Given the description of an element on the screen output the (x, y) to click on. 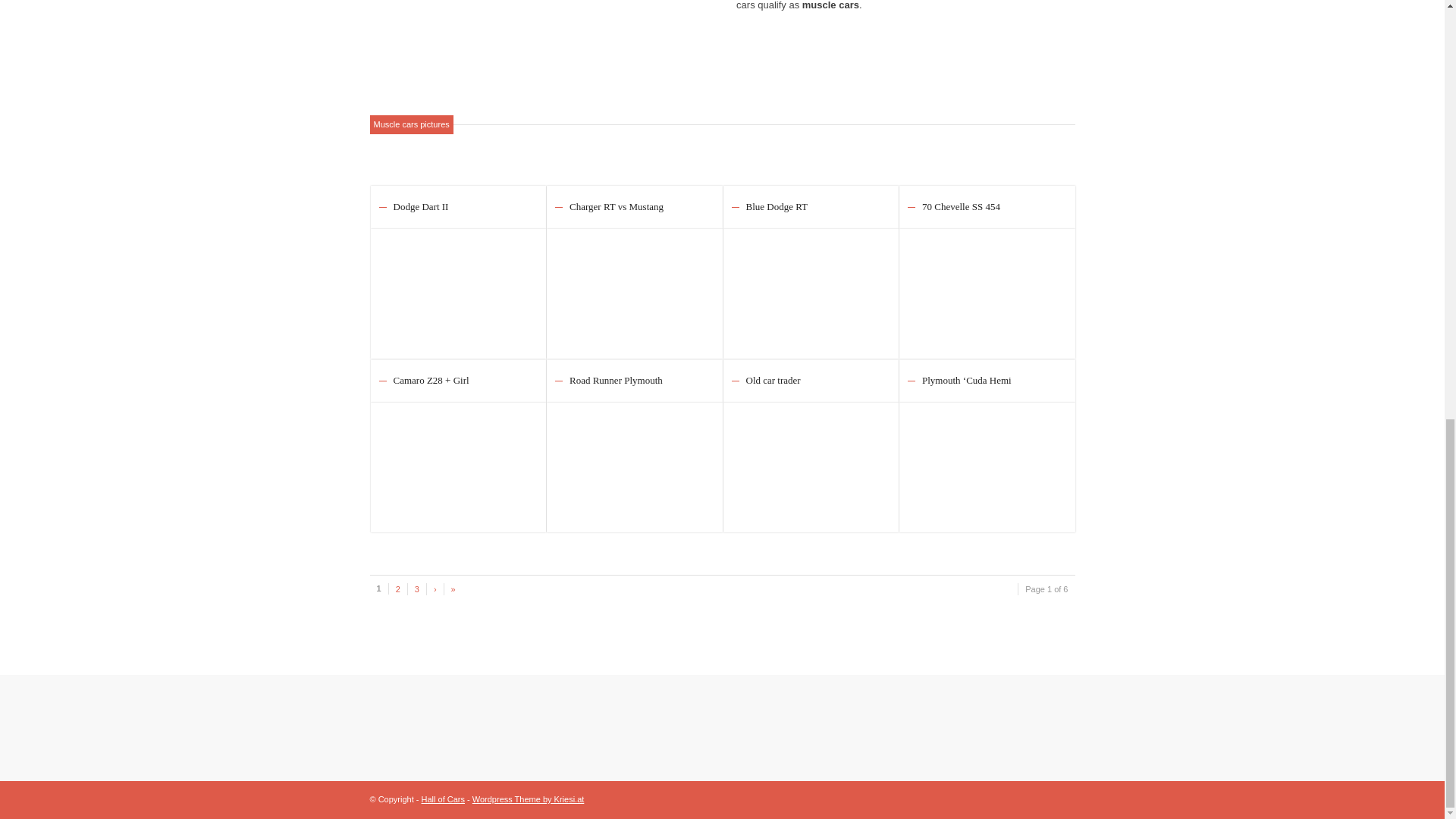
Dodge Dart II (420, 206)
Charger RT vs Mustang (634, 286)
Permanent Link: Dodge Dart II (420, 206)
Permanent Link: Blue Dodge RT (776, 206)
Permanent Link: Charger RT vs Mustang (616, 206)
Permanent Link: Road Runner Plymouth (615, 379)
Old car trader (811, 459)
Road Runner Plymouth (615, 379)
70 Chevelle SS 454 (960, 206)
Dodge Dart II (457, 286)
Road Runner Plymouth (634, 459)
Plymouth  (987, 459)
Permanent Link: 70 Chevelle SS 454 (960, 206)
70 Chevelle SS 454 (987, 286)
Charger RT vs Mustang (616, 206)
